Given the description of an element on the screen output the (x, y) to click on. 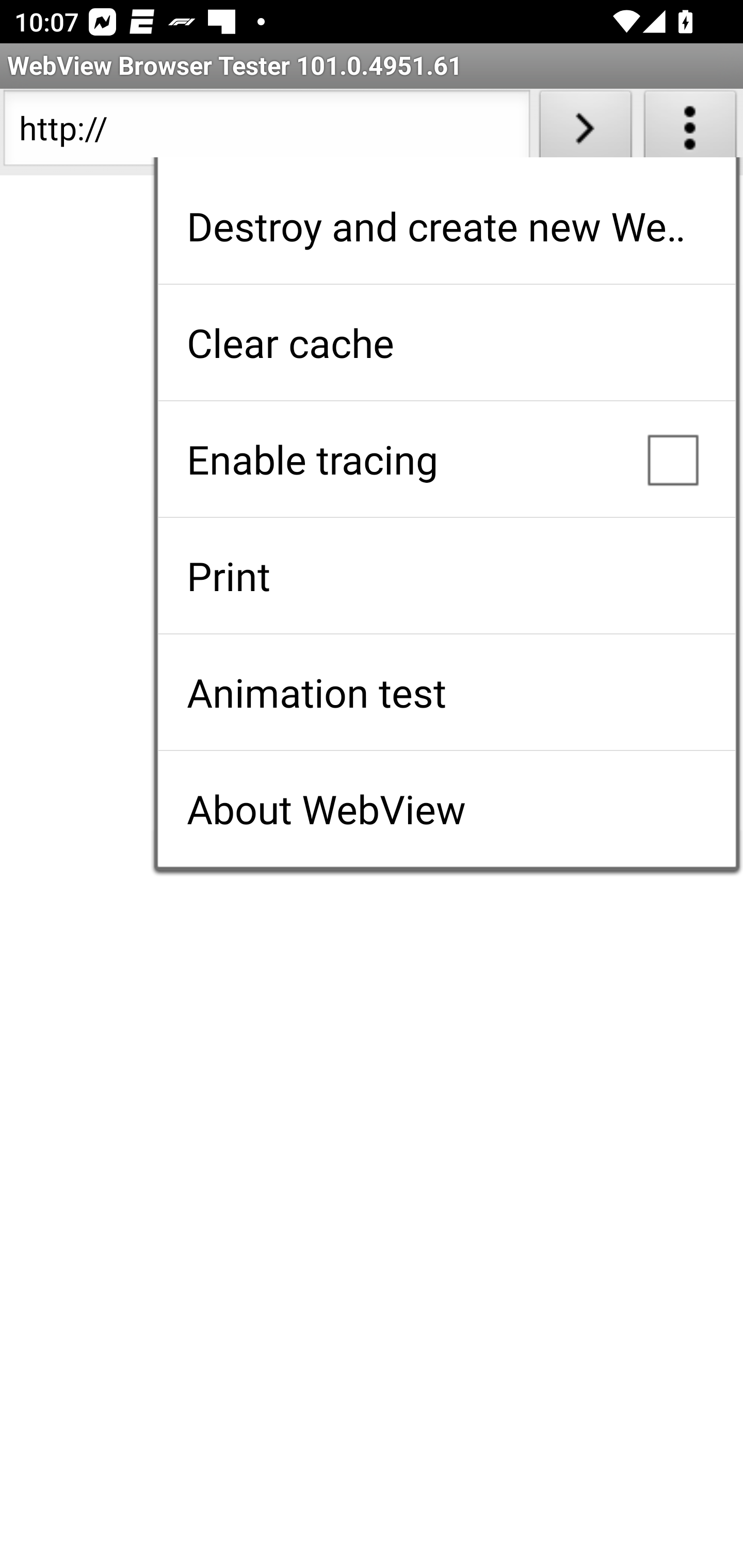
Destroy and create new WebView (446, 225)
Clear cache (446, 342)
Enable tracing (446, 459)
Print (446, 575)
Animation test (446, 692)
About WebView (446, 809)
